Given the description of an element on the screen output the (x, y) to click on. 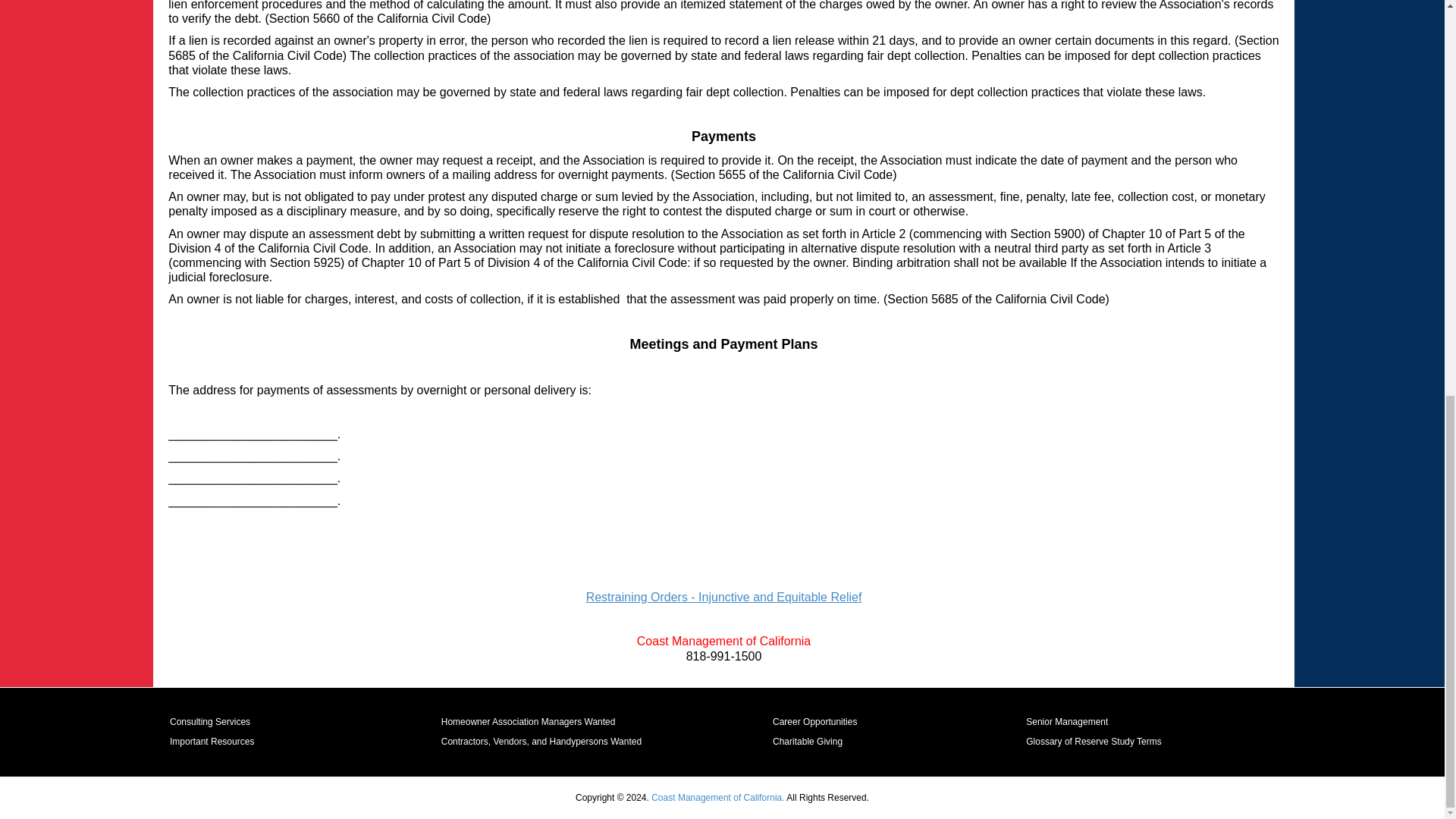
Contractors, Vendors, and Handypersons Wanted (615, 741)
Senior Management (1123, 722)
Career Opportunities (906, 722)
Coast Management of California. (717, 797)
Glossary of Reserve Study Terms (1123, 741)
Restraining Orders - Injunctive and Equitable Relief (723, 596)
Important Resources (312, 741)
Homeowner Association Managers Wanted (615, 722)
Consulting Services (312, 722)
Charitable Giving (906, 741)
